Given the description of an element on the screen output the (x, y) to click on. 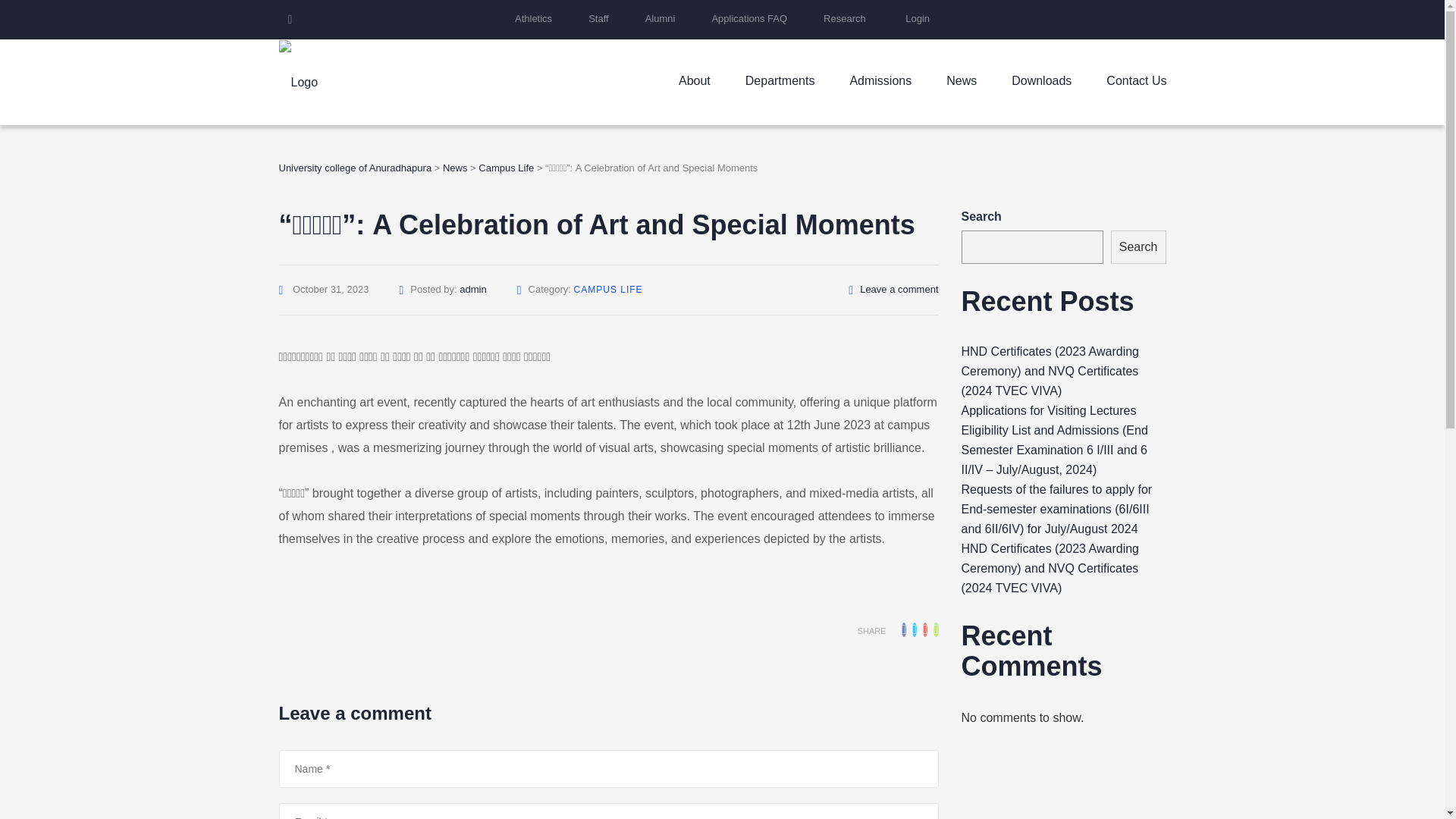
Login (917, 18)
Contact Us (1136, 67)
Applications for Visiting Lectures (1048, 410)
Applications FAQ (749, 18)
Campus Life (506, 167)
Downloads (1041, 67)
CAMPUS LIFE (608, 289)
Go to University college of Anuradhapura. (355, 167)
Login (917, 18)
News (454, 167)
